Given the description of an element on the screen output the (x, y) to click on. 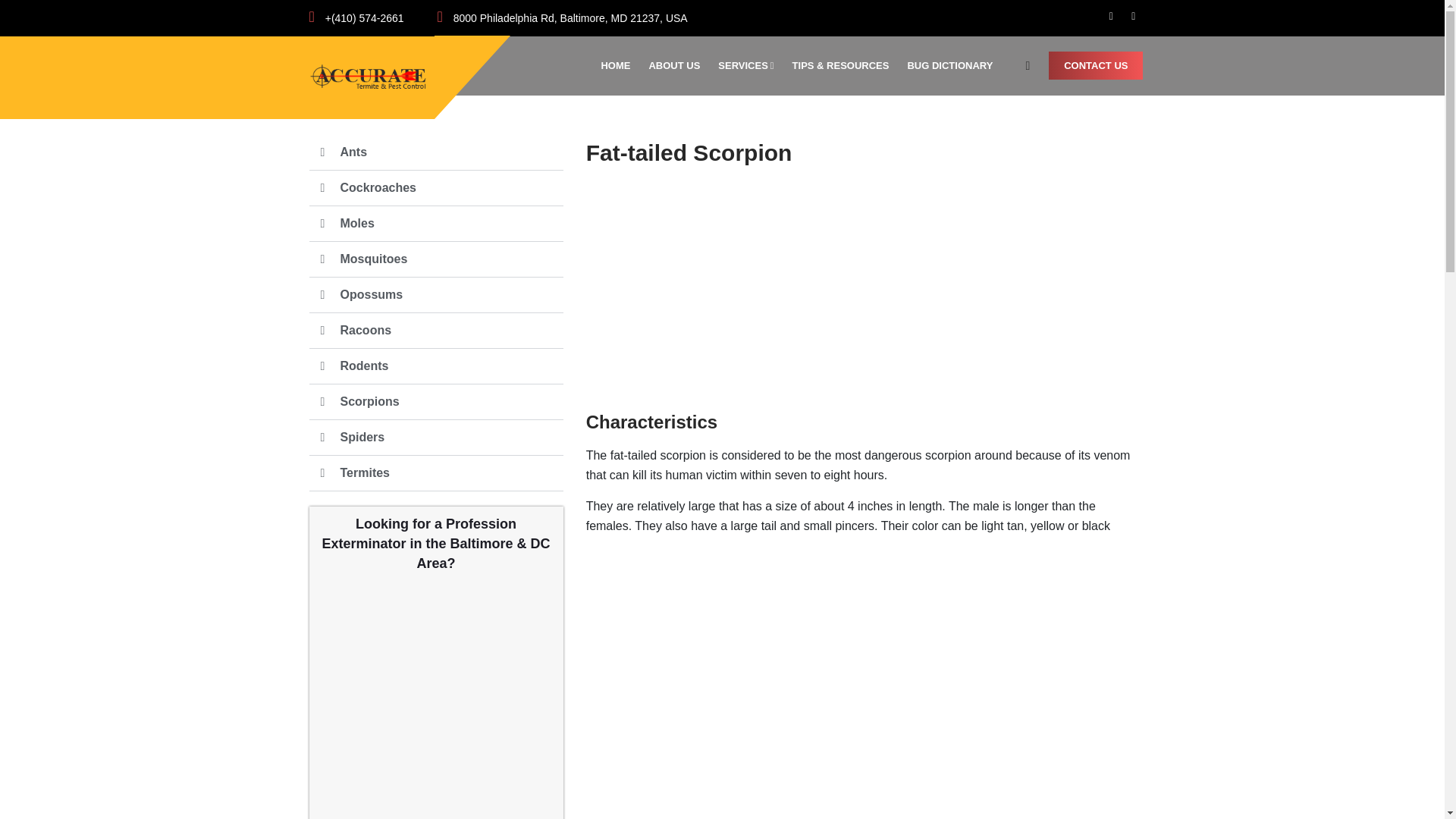
BUG DICTIONARY (954, 65)
Ants (352, 151)
facebook (1111, 15)
ABOUT US (678, 65)
CONTACT US (1095, 65)
Moles (356, 223)
SERVICES (750, 65)
Cockroaches (377, 187)
Yelp (1133, 15)
